Given the description of an element on the screen output the (x, y) to click on. 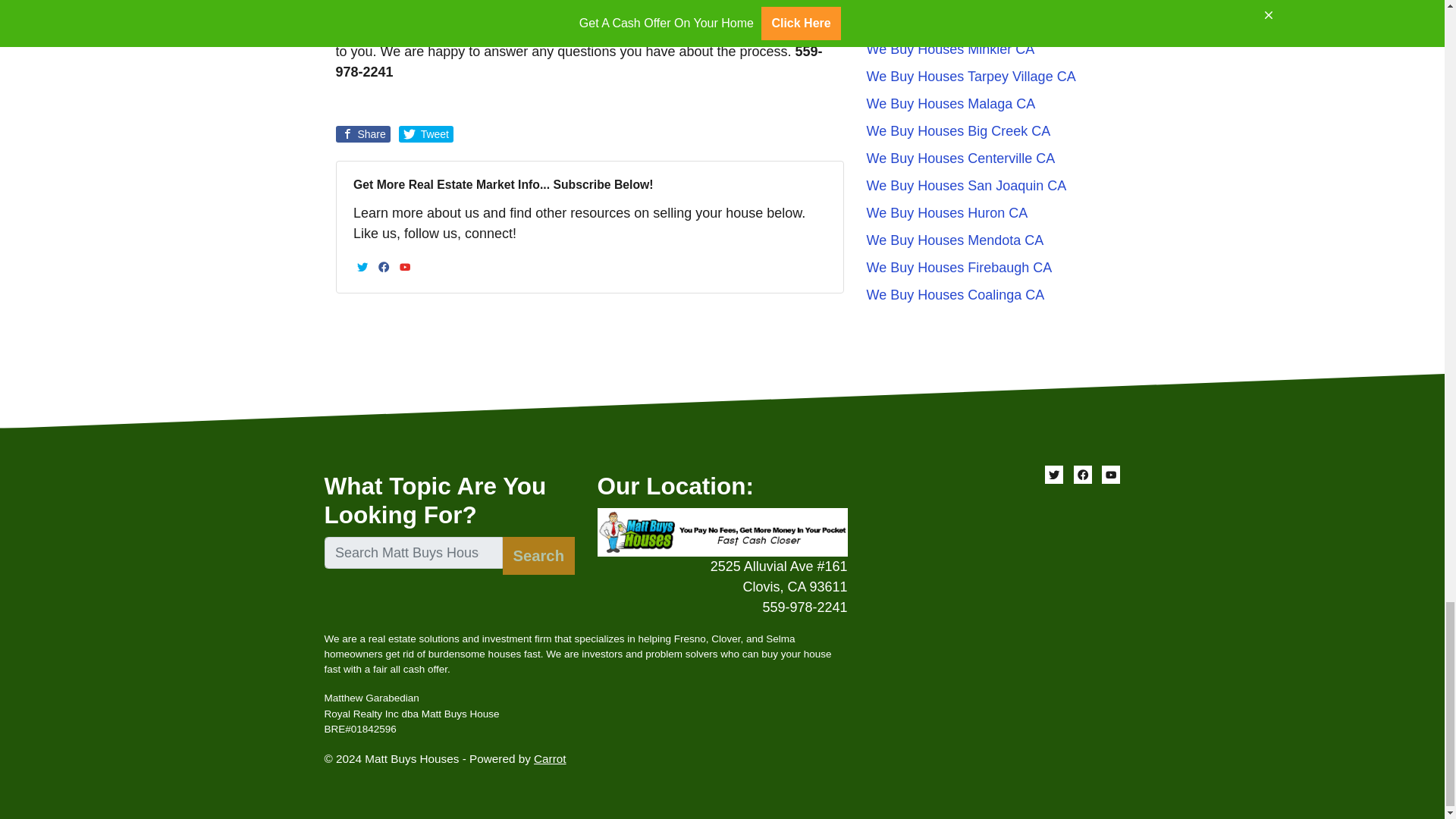
Share on Twitter (425, 134)
Twitter (362, 266)
Facebook (383, 266)
Share on Facebook (362, 134)
Tweet (425, 134)
YouTube (404, 266)
Share (362, 134)
